Given the description of an element on the screen output the (x, y) to click on. 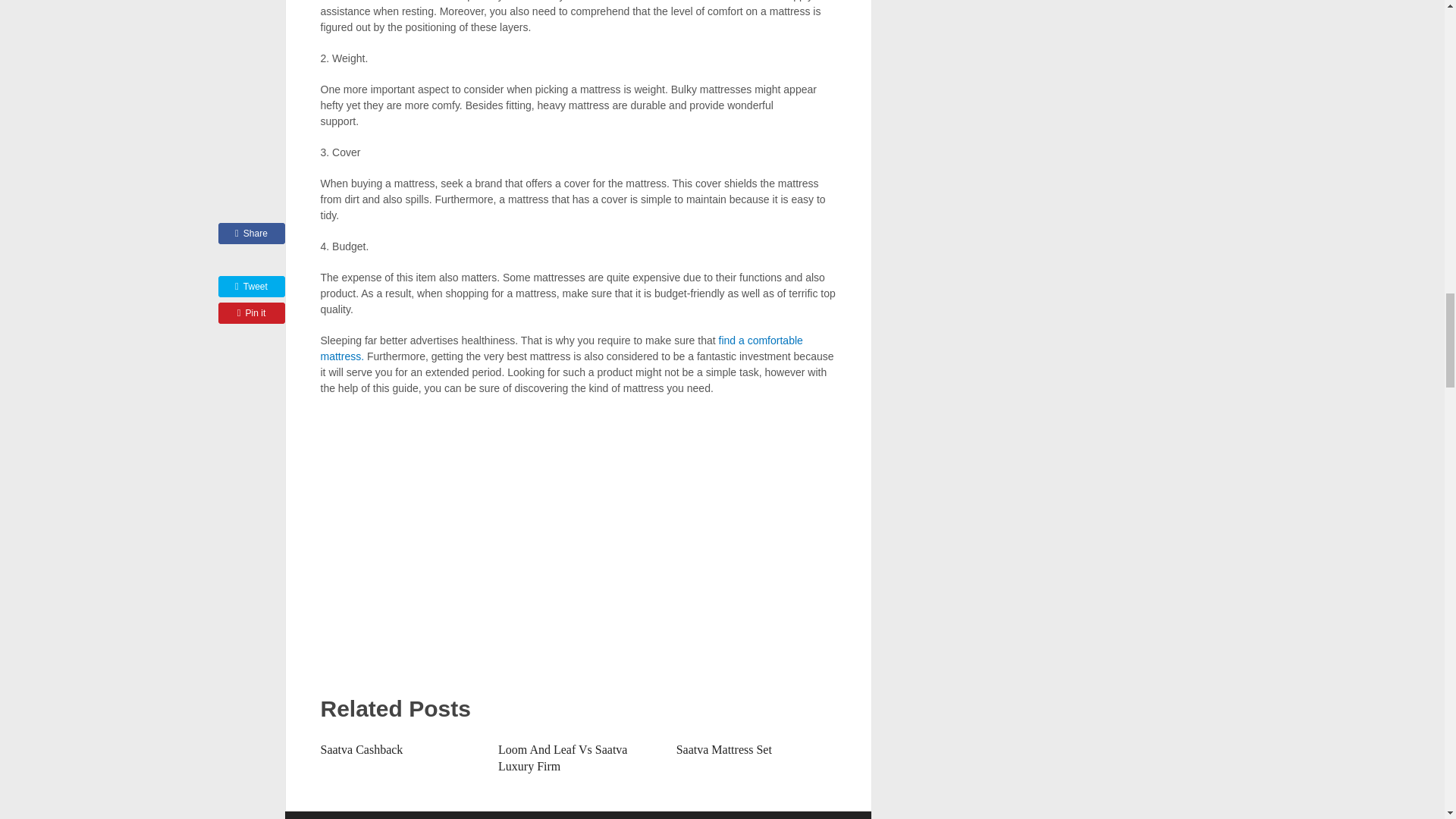
Saatva Mattress Set (724, 748)
Saatva Mattress Set (724, 748)
Loom And Leaf Vs Saatva Luxury Firm (562, 757)
Saatva Cashback (361, 748)
Loom And Leaf Vs Saatva Luxury Firm (562, 757)
find a comfortable mattress. (561, 348)
Saatva Cashback (361, 748)
